Given the description of an element on the screen output the (x, y) to click on. 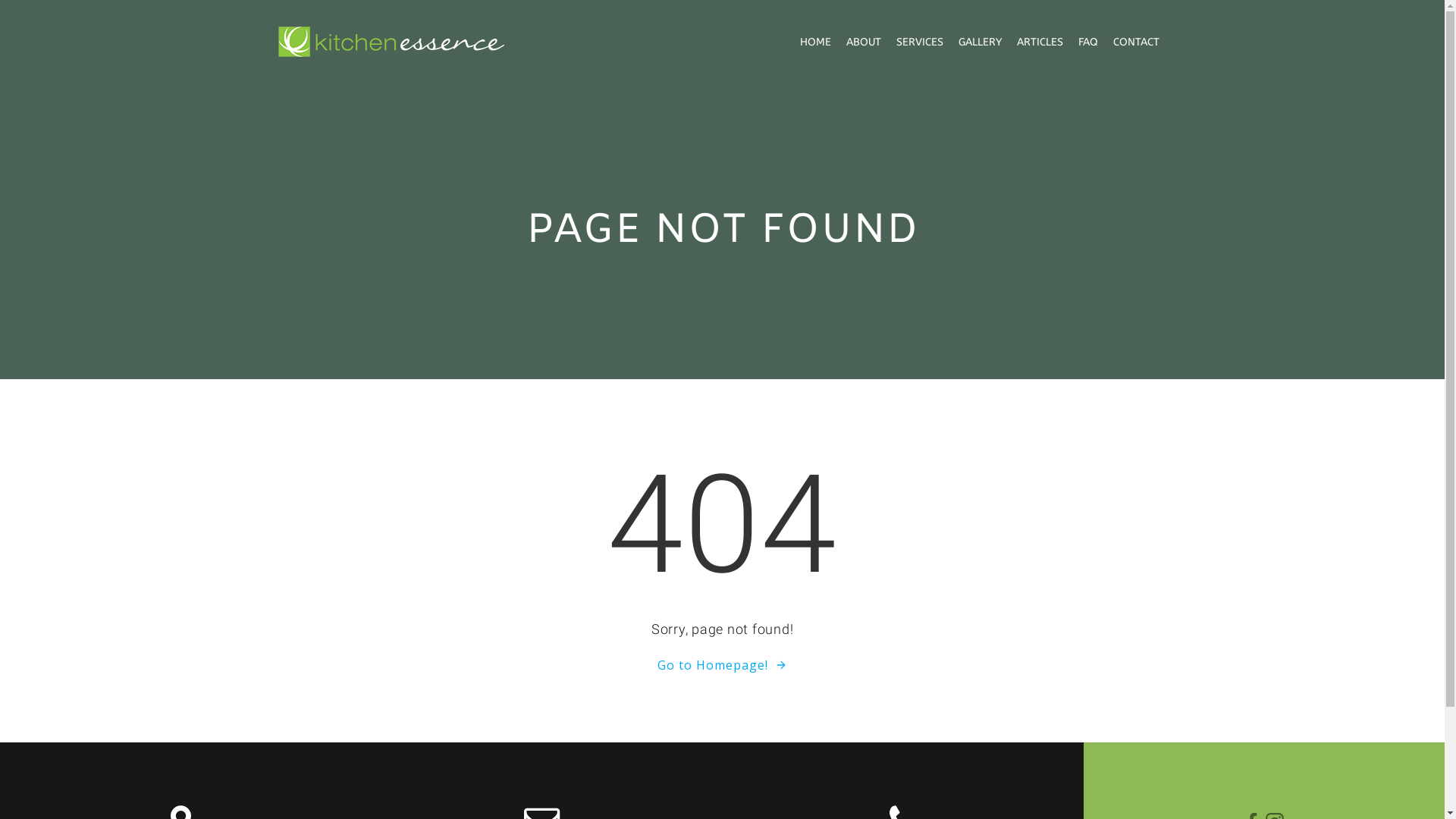
Go to Homepage! Element type: text (721, 664)
GALLERY Element type: text (979, 41)
ARTICLES Element type: text (1039, 41)
HOME Element type: text (814, 41)
SERVICES Element type: text (919, 41)
CONTACT Element type: text (1136, 41)
FAQ Element type: text (1088, 41)
ABOUT Element type: text (863, 41)
